Given the description of an element on the screen output the (x, y) to click on. 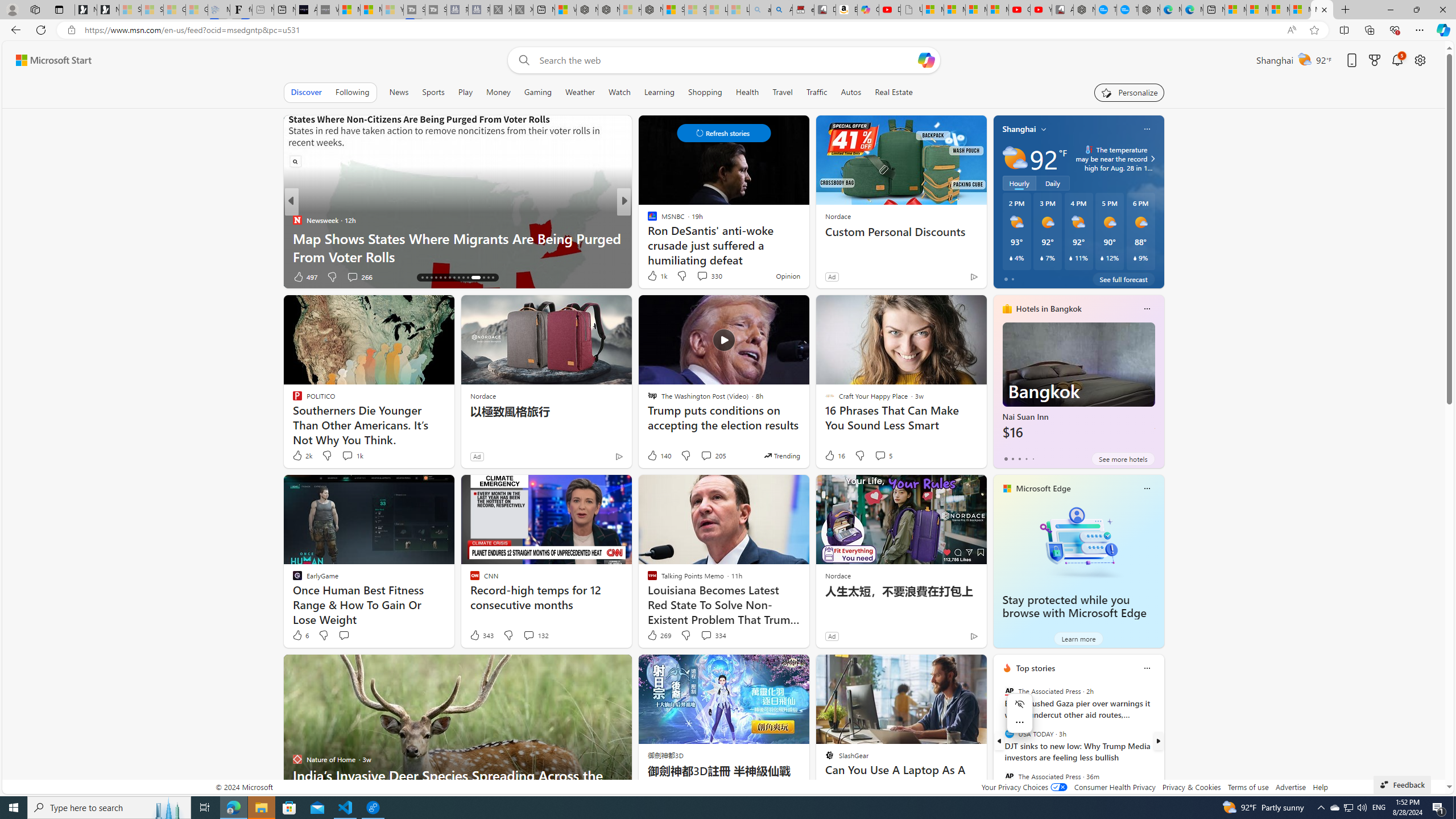
View comments 1k Comment (352, 455)
Travel (782, 92)
tab-0 (1005, 458)
Untitled (911, 9)
View comments 330 Comment (701, 275)
Class: control (723, 132)
Health (746, 92)
tab-4 (1032, 458)
View comments 1k Comment (346, 455)
AutomationID: tab-24 (458, 277)
